Given the description of an element on the screen output the (x, y) to click on. 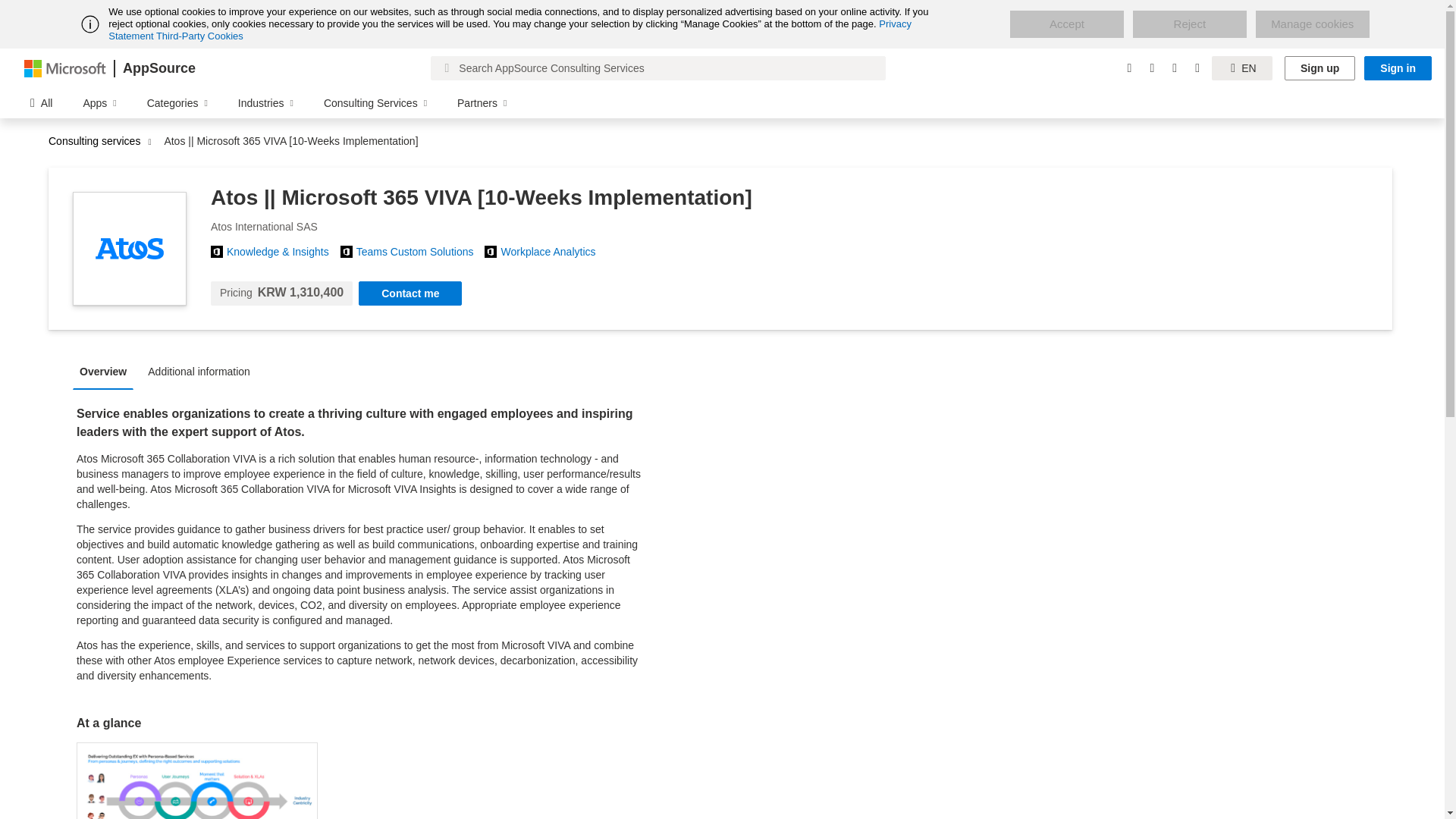
Workplace Analytics (553, 251)
Privacy Statement (509, 29)
Additional information (202, 370)
Overview (106, 370)
Third-Party Cookies (199, 35)
AppSource (158, 67)
Workplace Analytics (553, 251)
Teams Custom Solutions (420, 251)
Sign up (1319, 68)
Reject (1189, 23)
Microsoft (65, 67)
Consulting services (98, 141)
Accept (1067, 23)
Contact me (409, 293)
Sign in (1397, 68)
